Given the description of an element on the screen output the (x, y) to click on. 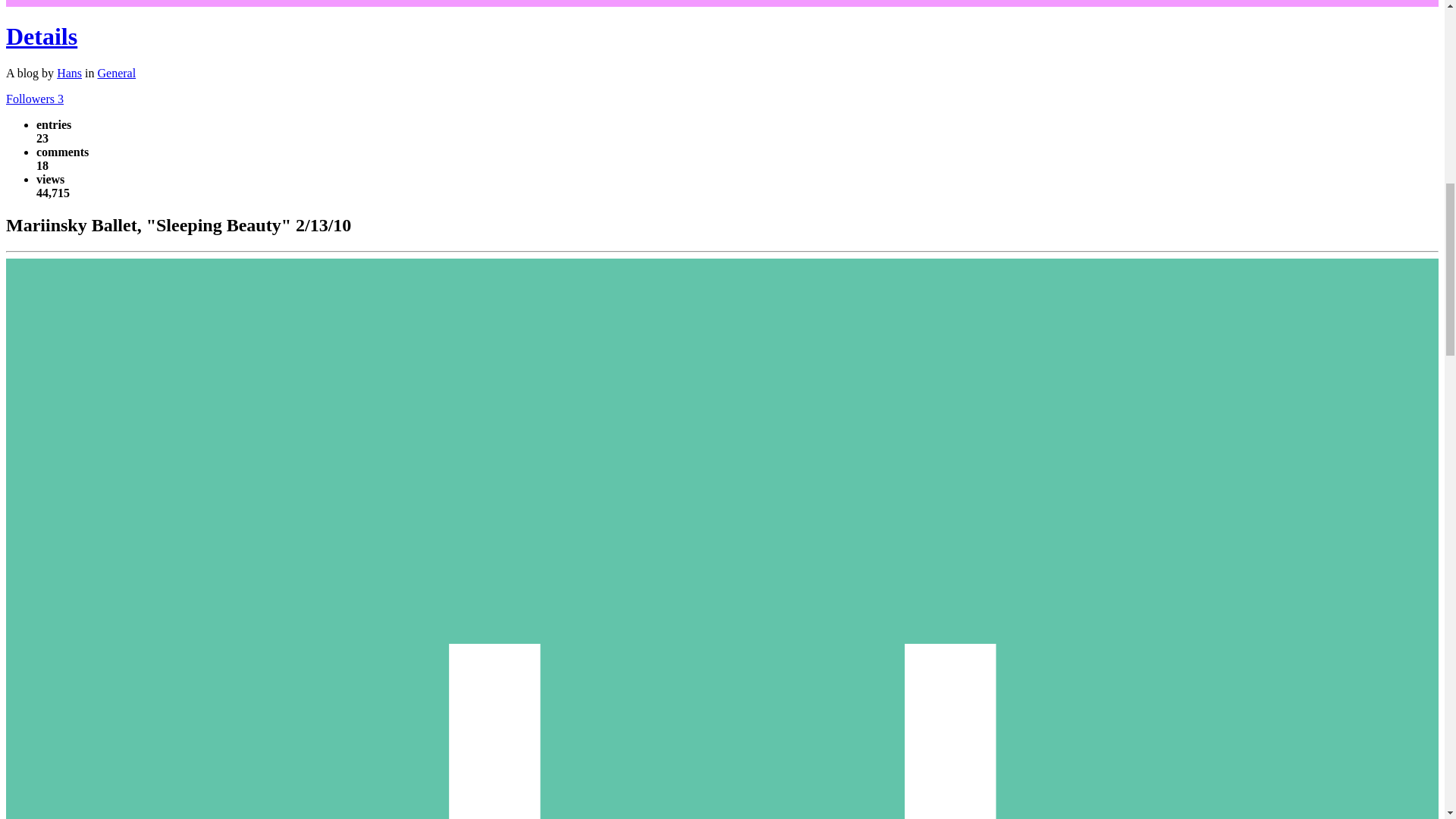
General (116, 72)
Sign in to follow this (34, 98)
Hans (68, 72)
Go to Hans's profile (68, 72)
Followers 3 (34, 98)
Go to the blog Details (41, 35)
Details (41, 35)
